Given the description of an element on the screen output the (x, y) to click on. 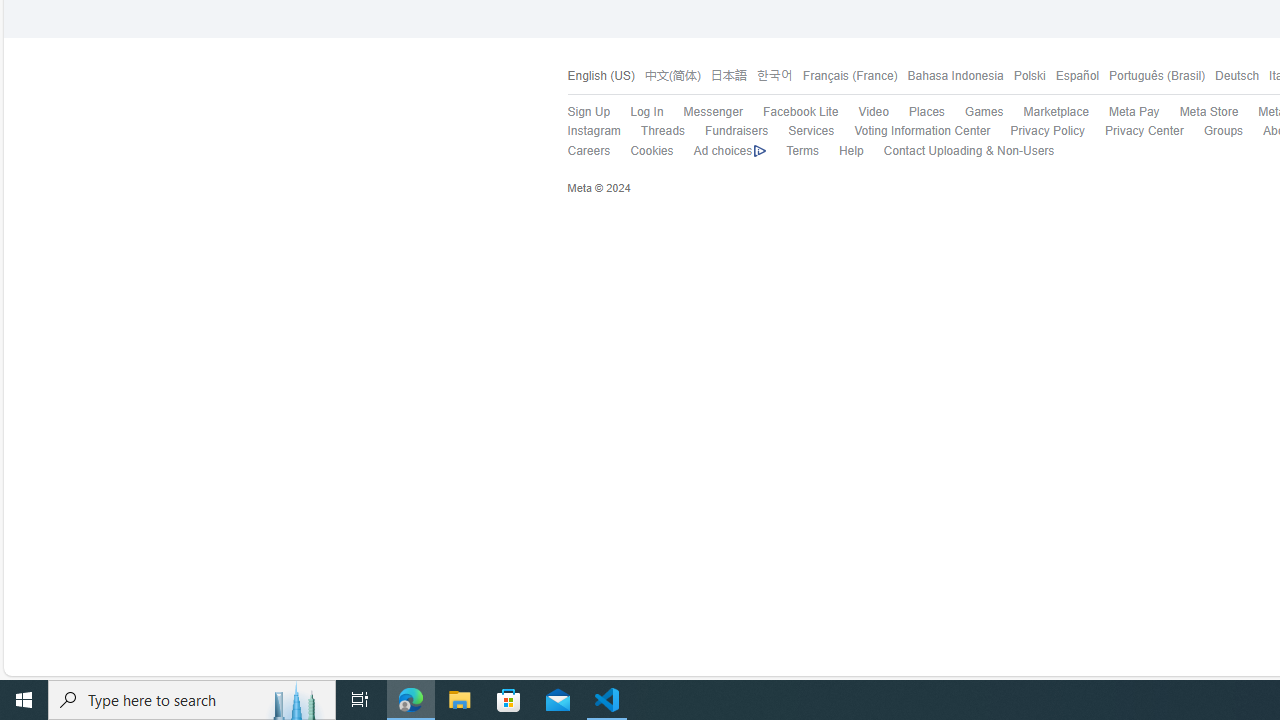
Polski (1028, 76)
Instagram (583, 131)
English (US) (600, 75)
Terms (802, 150)
Terms (792, 151)
Sign Up (588, 112)
Log In (637, 112)
Messenger (702, 112)
Help (840, 151)
Meta Store (1198, 112)
Privacy Policy (1047, 130)
Meta Store (1208, 112)
Ad choices (719, 151)
Places (925, 112)
